Given the description of an element on the screen output the (x, y) to click on. 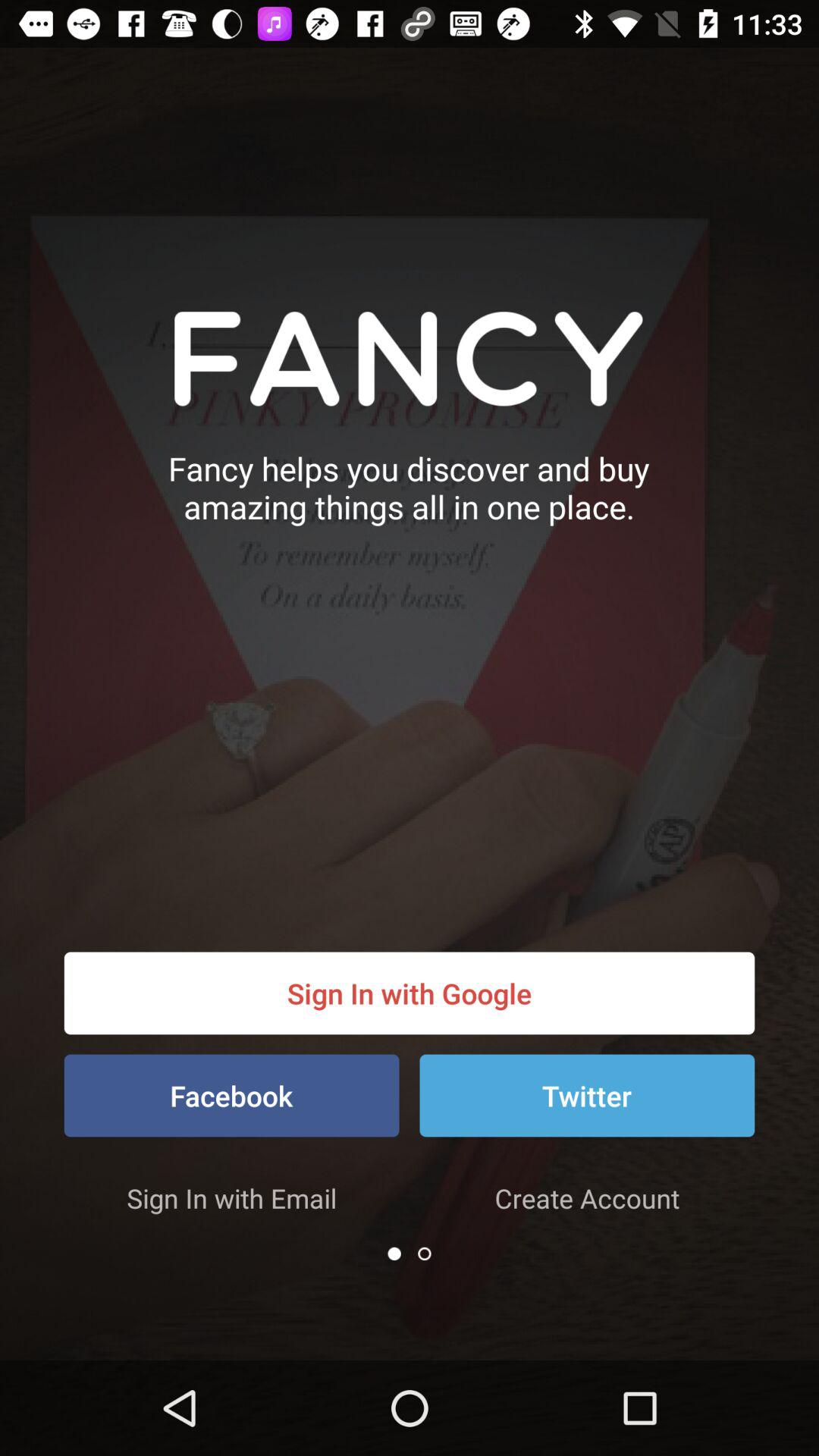
select the icon below the sign in with item (586, 1095)
